Given the description of an element on the screen output the (x, y) to click on. 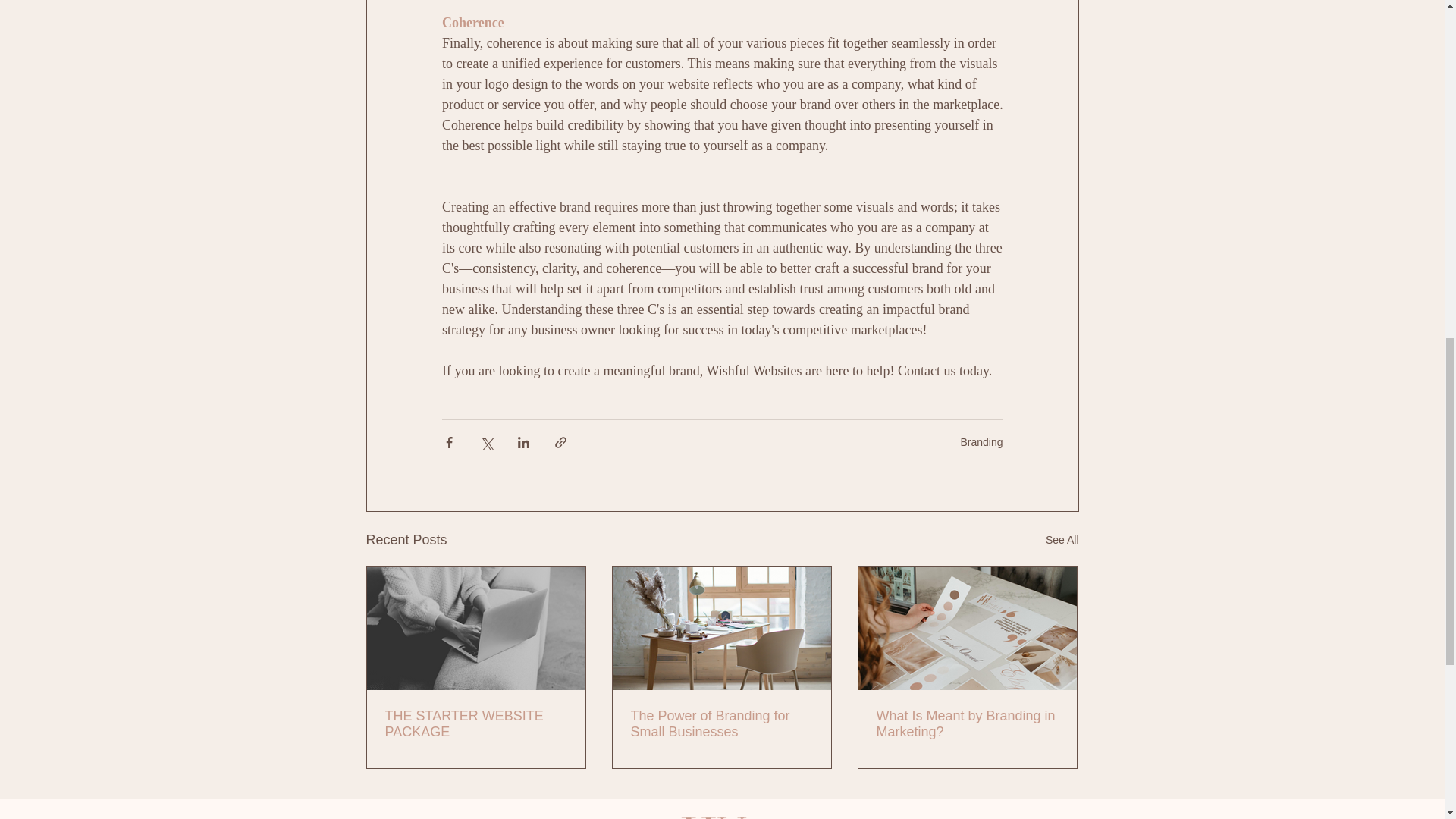
THE STARTER WEBSITE PACKAGE (476, 724)
The Power of Branding for Small Businesses (721, 724)
See All (1061, 540)
Branding (981, 441)
What Is Meant by Branding in Marketing? (967, 724)
